Given the description of an element on the screen output the (x, y) to click on. 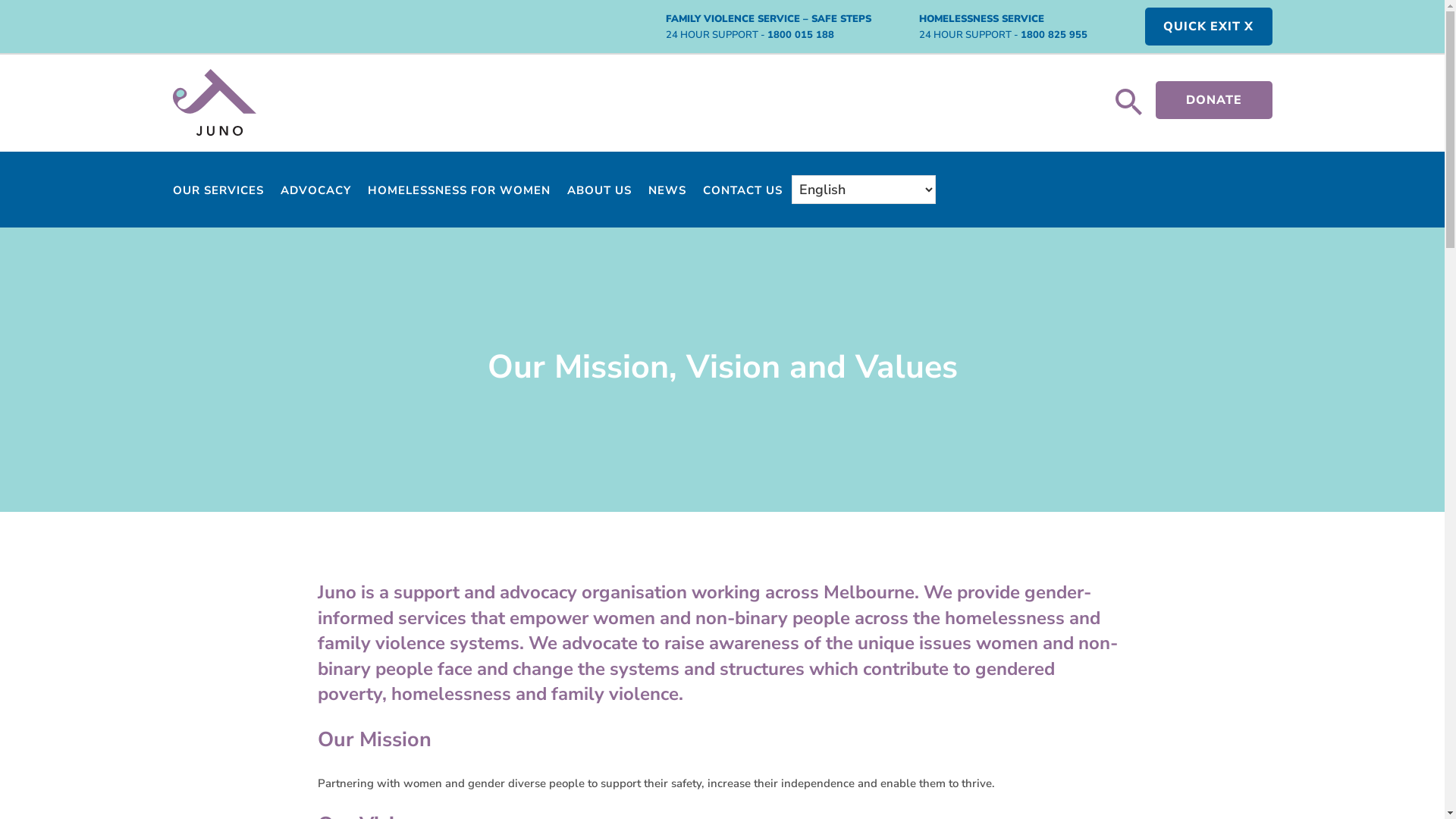
ABOUT US Element type: text (599, 192)
1800 825 955 Element type: text (1053, 34)
CONTACT US Element type: text (741, 192)
1800 015 188 Element type: text (800, 34)
OUR SERVICES Element type: text (217, 192)
DONATE Element type: text (1213, 100)
ADVOCACY Element type: text (315, 192)
Skip to primary navigation Element type: text (0, 0)
HOMELESSNESS FOR WOMEN Element type: text (458, 192)
QUICK EXIT X Element type: text (1208, 26)
NEWS Element type: text (666, 192)
